Given the description of an element on the screen output the (x, y) to click on. 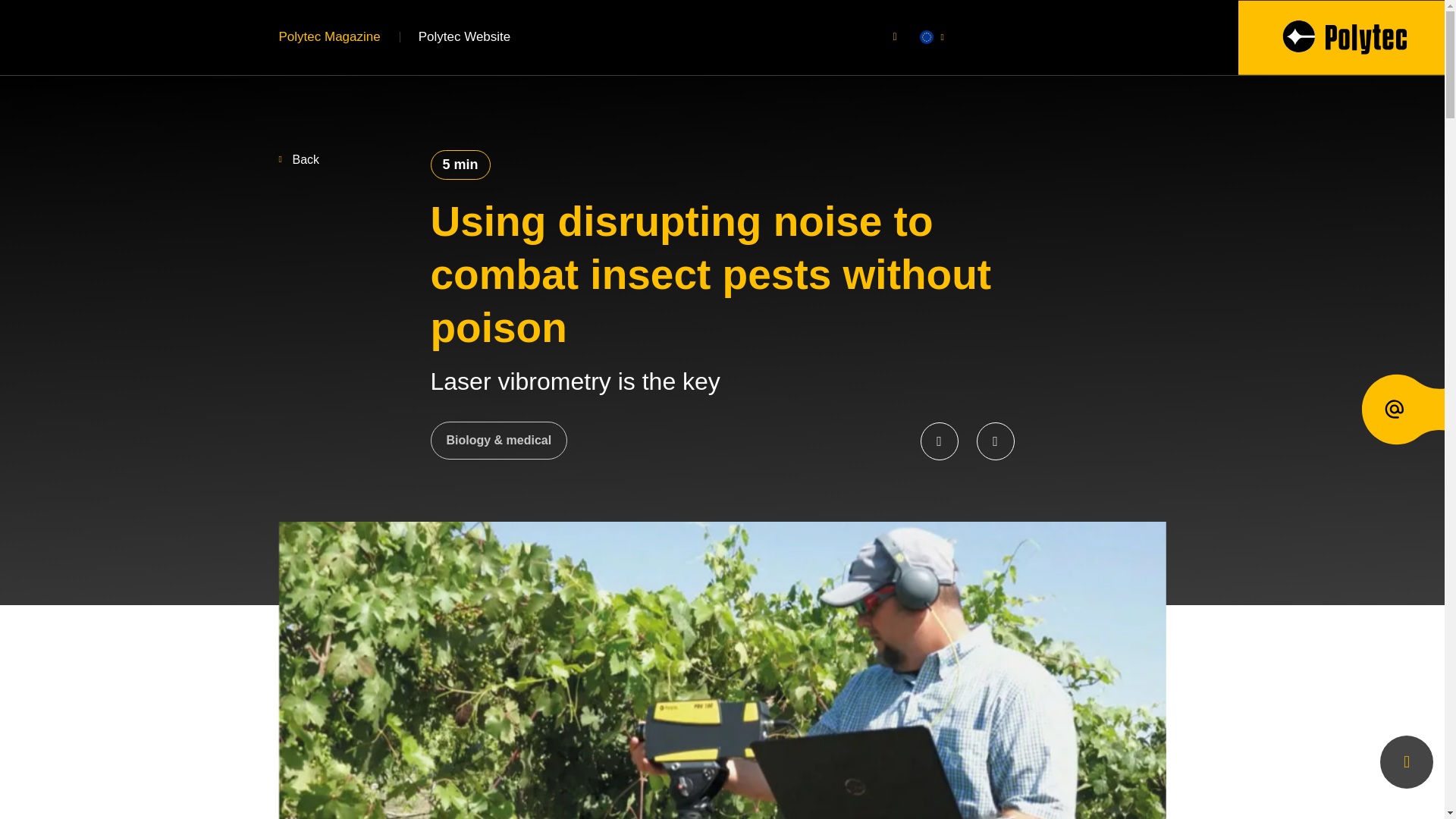
Polytec Magazine (329, 36)
Back (299, 159)
Polytec Website (465, 36)
